Given the description of an element on the screen output the (x, y) to click on. 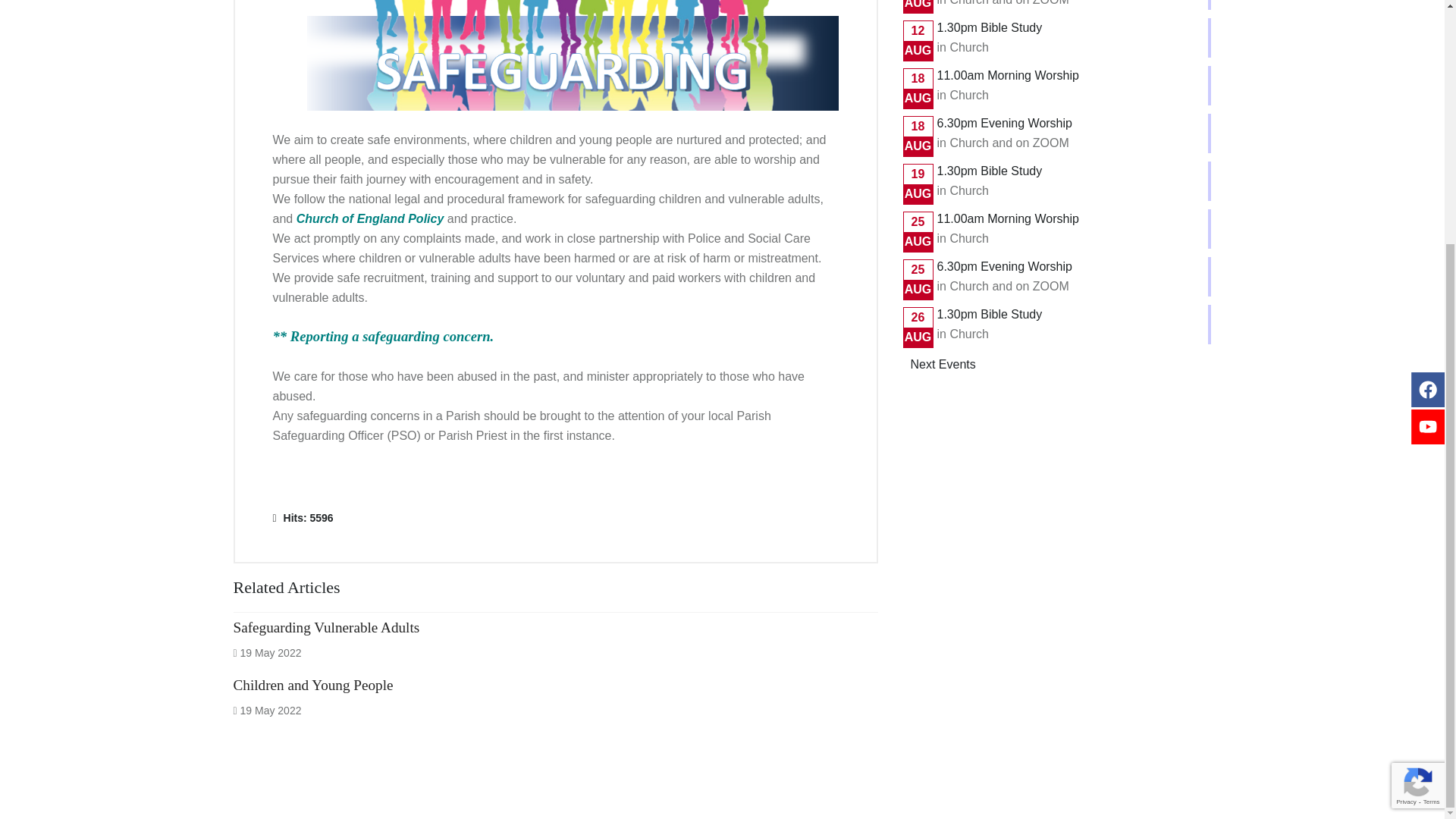
1.30pm Bible Study (989, 27)
Published: 19 May 2022 (266, 653)
1.30pm Bible Study (989, 314)
11.00am Morning Worship (1007, 74)
Church of England Policy (370, 218)
11.00am Morning Worship (1007, 218)
Safeguarding Vulnerable Adults (326, 627)
6.30pm Evening Worship (1004, 266)
Next Events (943, 364)
Published: 19 May 2022 (266, 710)
1.30pm Bible Study (989, 170)
Children and Young People (312, 684)
6.30pm Evening Worship (1004, 123)
